Given the description of an element on the screen output the (x, y) to click on. 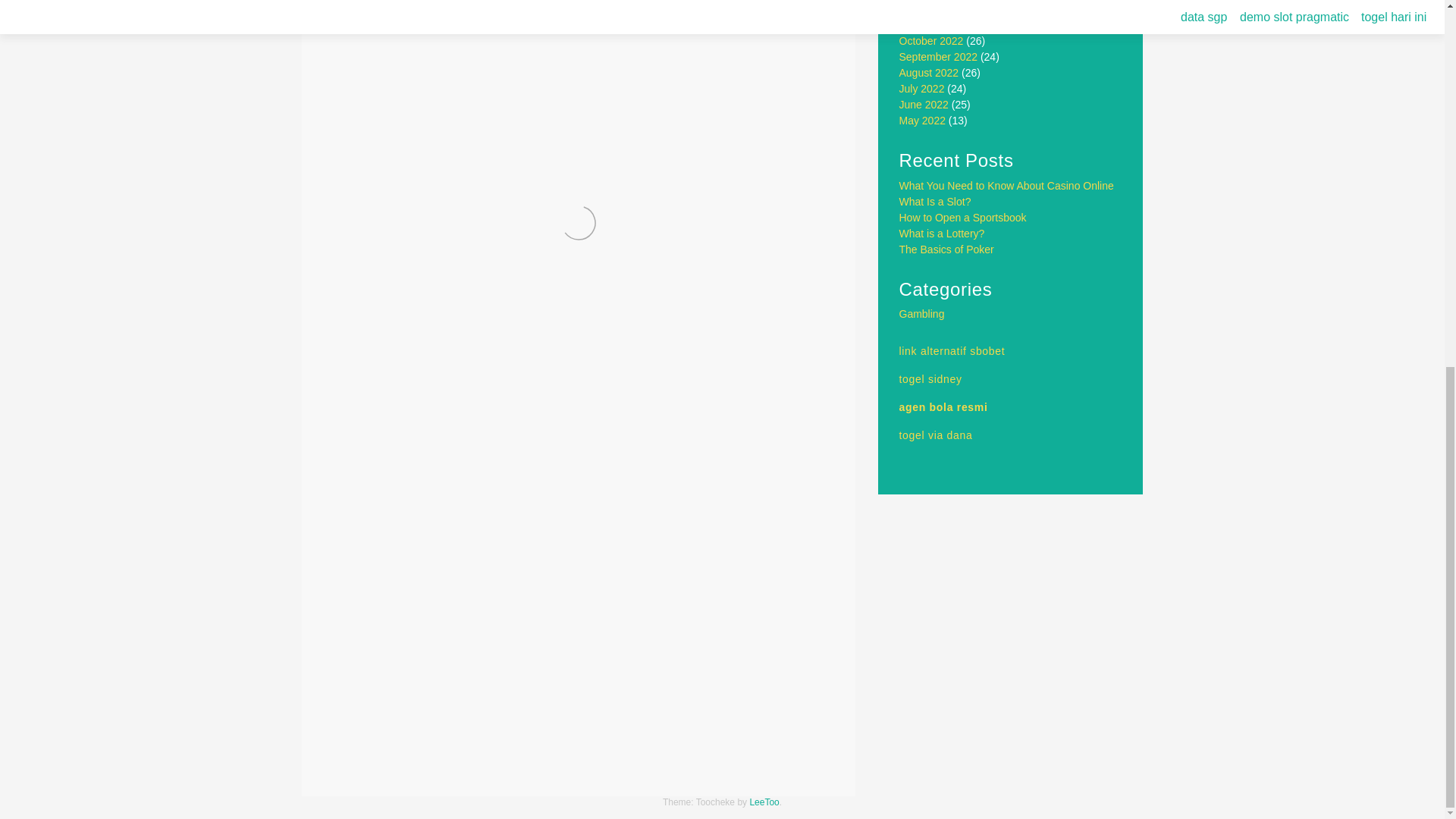
How to Find the Best Online Casinos  (717, 762)
What is a Lottery? (942, 233)
 What to Look For in a Sportsbook (429, 762)
May 2022 (921, 120)
What Is a Slot? (935, 201)
June 2022 (924, 104)
Gambling (403, 722)
What You Need to Know About Casino Online (1006, 185)
August 2022 (929, 72)
July 2022 (921, 88)
